Given the description of an element on the screen output the (x, y) to click on. 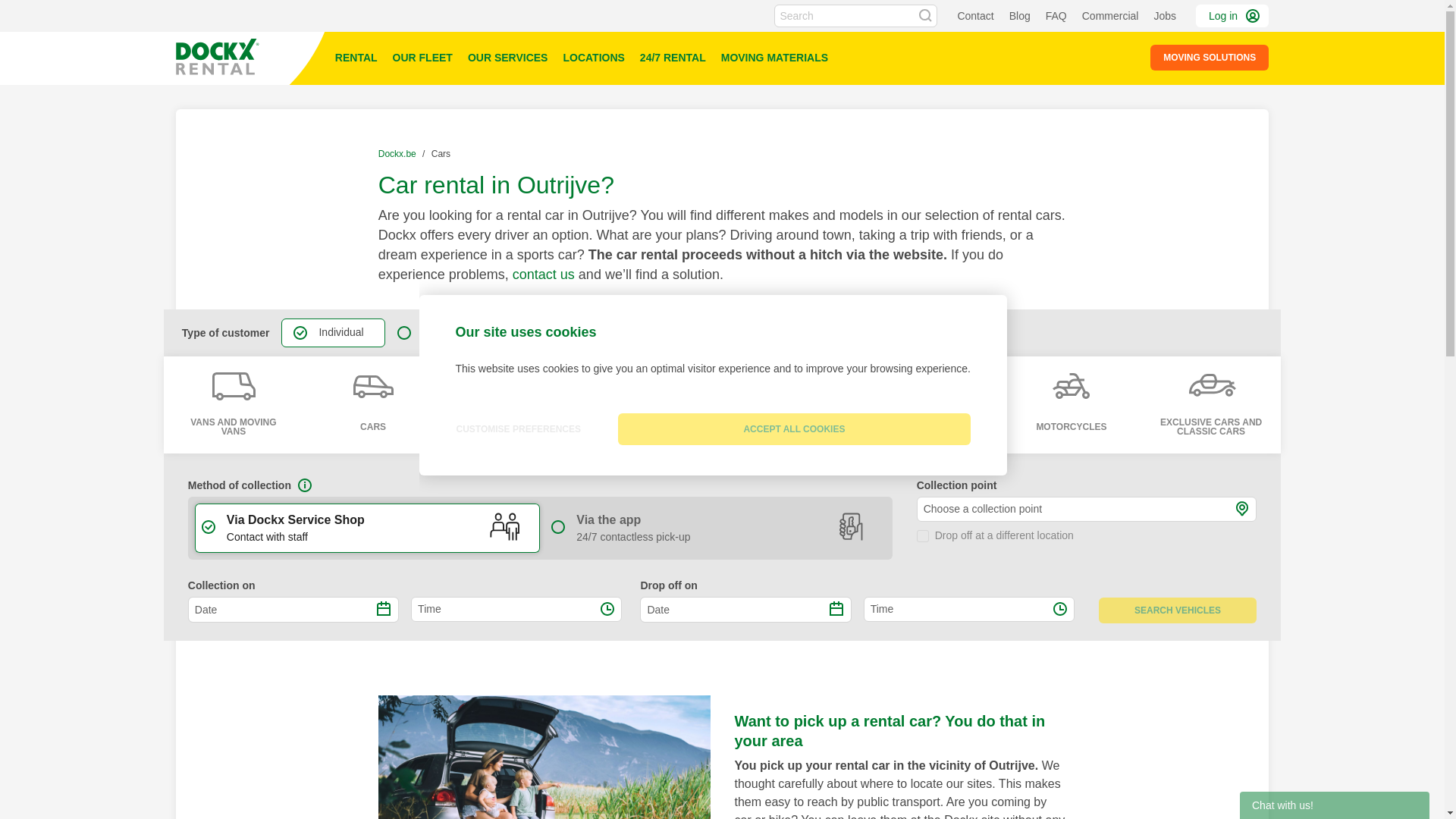
Contact (975, 15)
RENTAL (356, 57)
Dockx.be (398, 153)
OUR FLEET (422, 57)
LOCATIONS (592, 57)
OUR SERVICES (508, 57)
Fratello DEMO (251, 57)
Commercial (1110, 15)
MOVING SOLUTIONS (1209, 57)
contact us (543, 273)
